Given the description of an element on the screen output the (x, y) to click on. 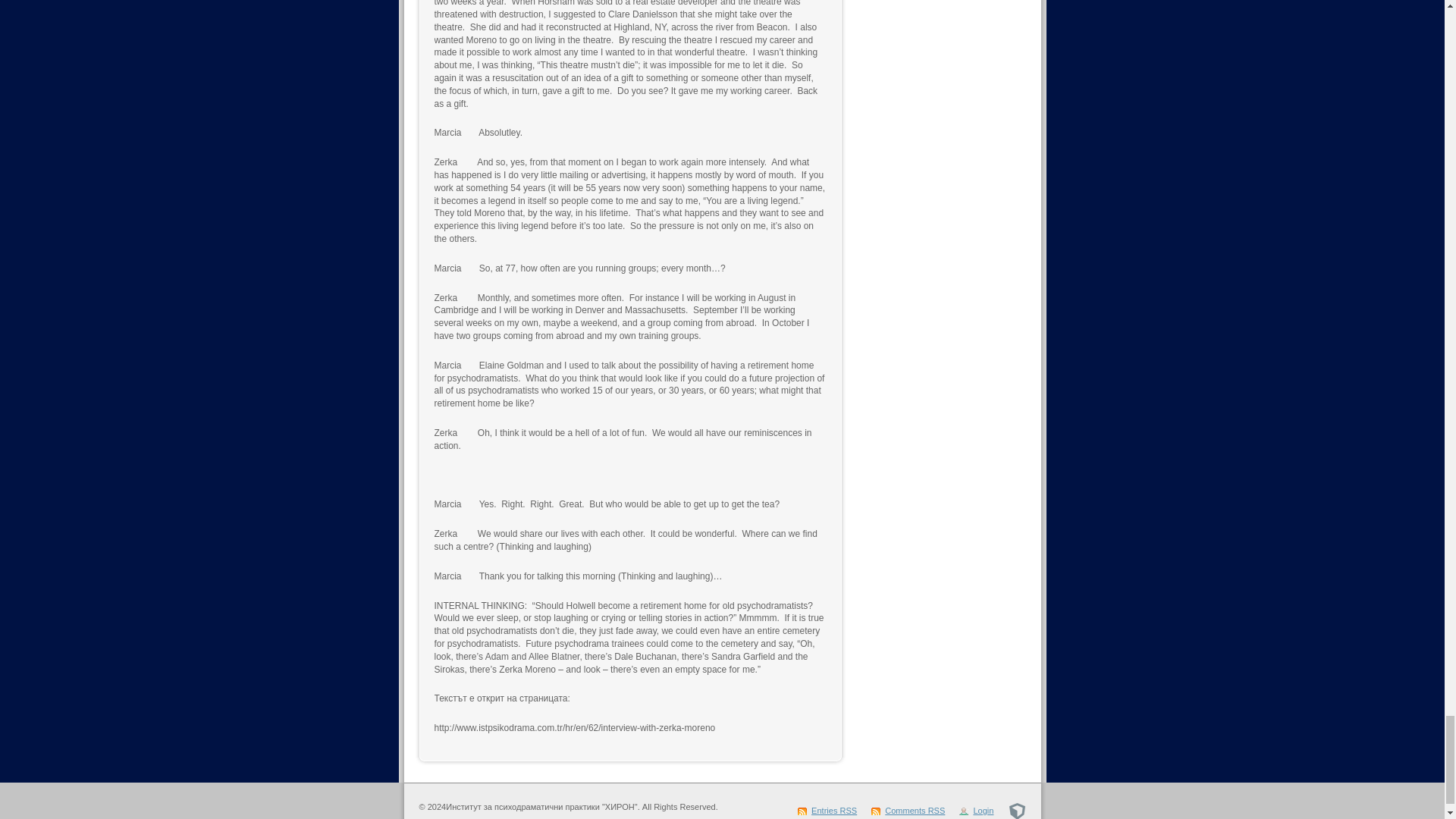
The latest comments to all posts in RSS (907, 809)
AOE (1017, 809)
Really Simple Syndication (936, 809)
Really Simple Syndication (848, 809)
Syndicate this site using RSS (827, 809)
Comments RSS (907, 809)
Login (975, 809)
User Area (975, 809)
Entries RSS (827, 809)
